Given the description of an element on the screen output the (x, y) to click on. 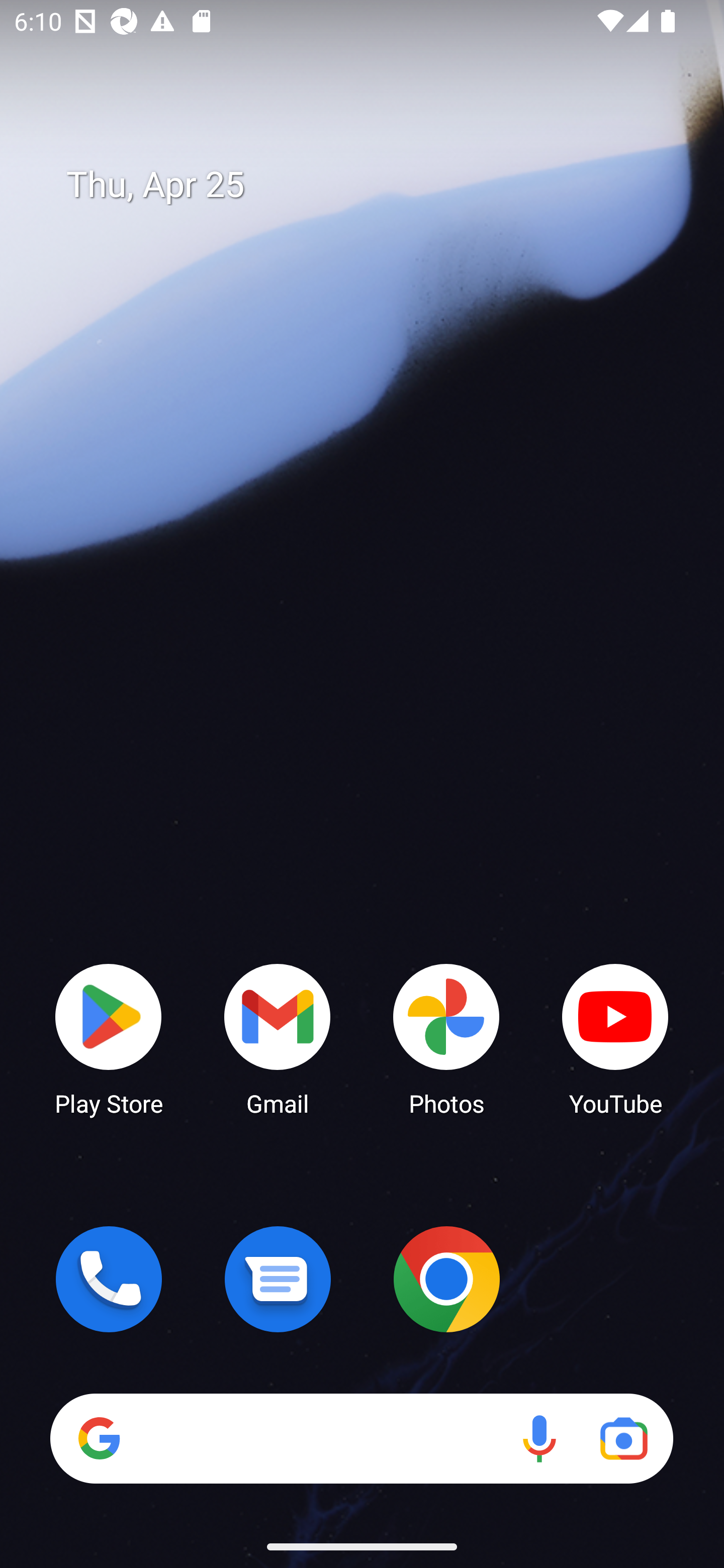
Thu, Apr 25 (375, 184)
Play Store (108, 1038)
Gmail (277, 1038)
Photos (445, 1038)
YouTube (615, 1038)
Phone (108, 1279)
Messages (277, 1279)
Chrome (446, 1279)
Search Voice search Google Lens (361, 1438)
Voice search (539, 1438)
Google Lens (623, 1438)
